Given the description of an element on the screen output the (x, y) to click on. 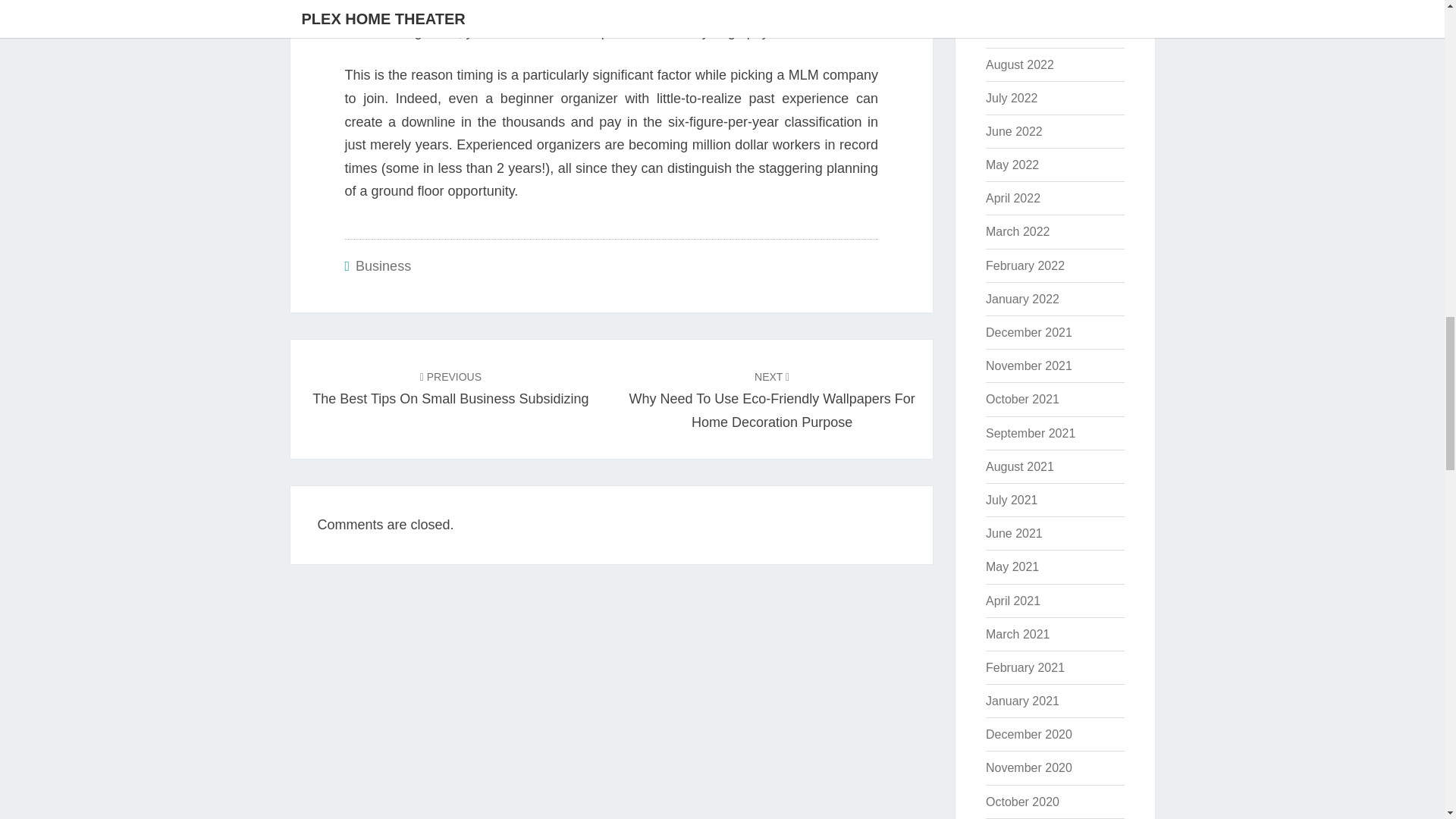
July 2022 (1011, 97)
August 2022 (1019, 64)
March 2022 (1017, 231)
January 2022 (1022, 298)
February 2022 (1024, 265)
Business (382, 265)
May 2022 (450, 387)
April 2022 (1012, 164)
